Given the description of an element on the screen output the (x, y) to click on. 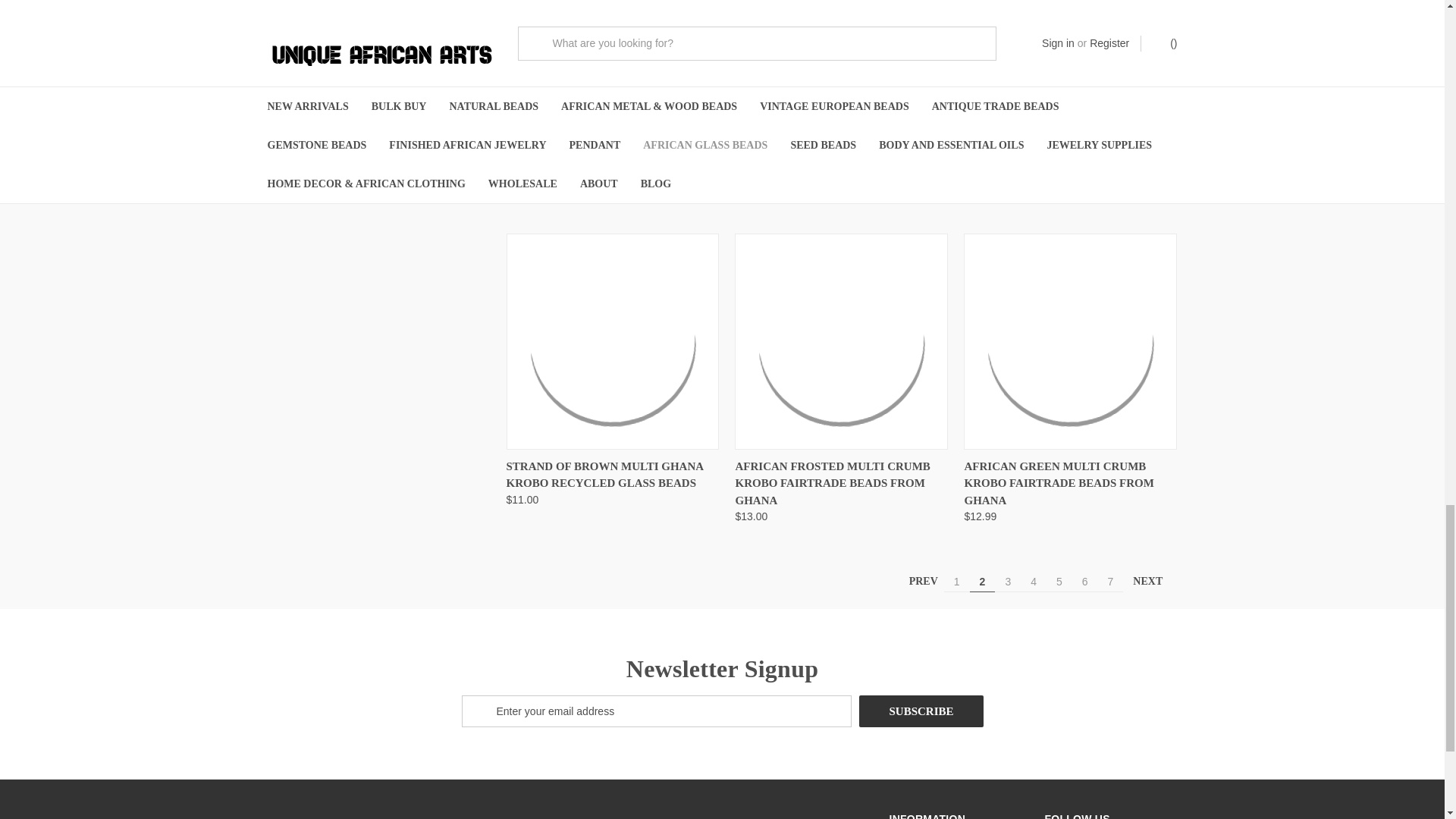
Subscribe (920, 711)
Strand of brown swirl Ghana Krobo recycled glass beads (612, 61)
